Given the description of an element on the screen output the (x, y) to click on. 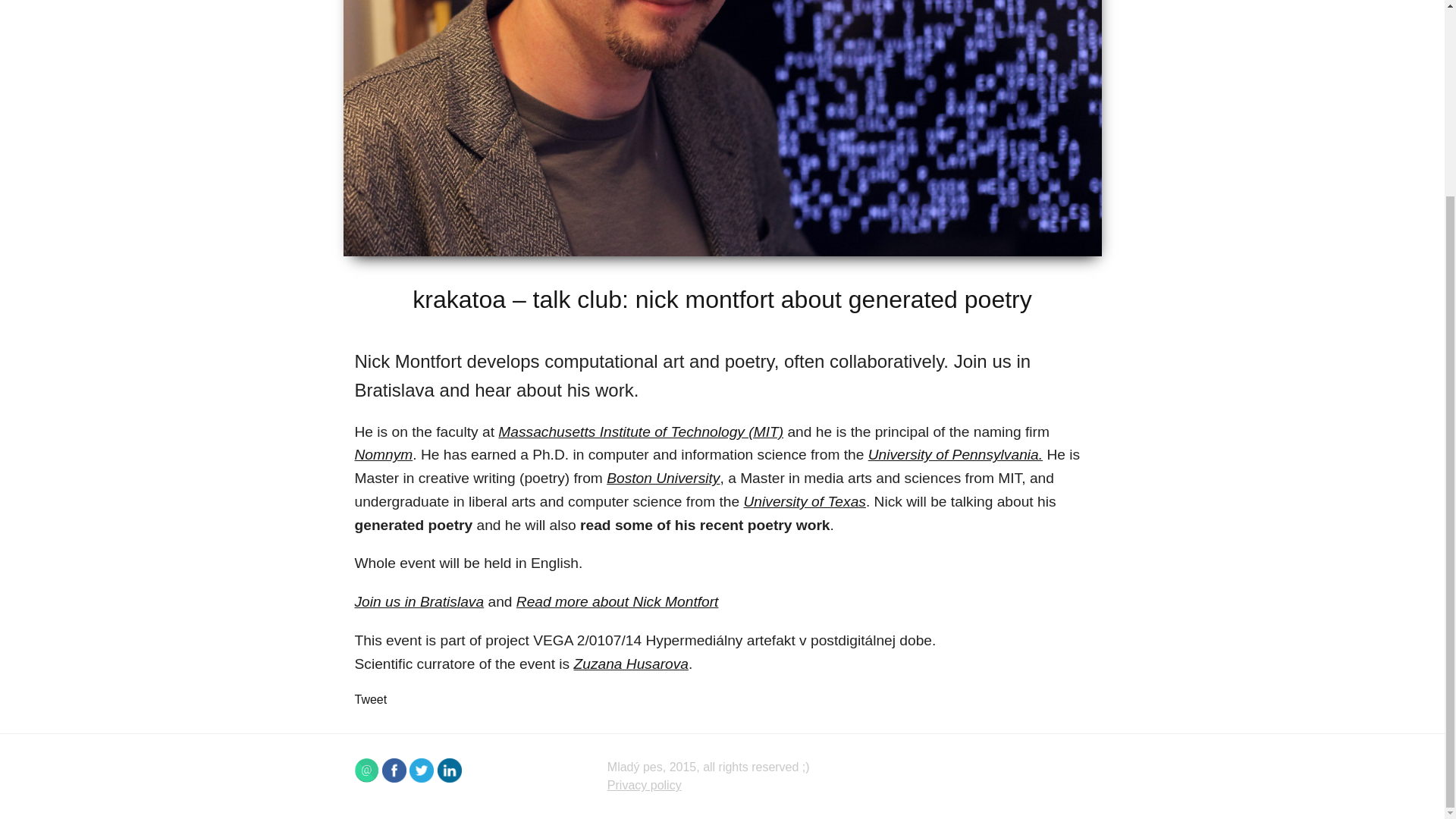
Tweet (371, 698)
Privacy policy (644, 784)
Zuzana Husarova (630, 663)
Boston University (663, 478)
Nomnym (384, 454)
Read more about Nick Montfort (617, 601)
University of Texas (805, 501)
University of Pennsylvania. (954, 454)
Join us in Bratislava (419, 601)
